Given the description of an element on the screen output the (x, y) to click on. 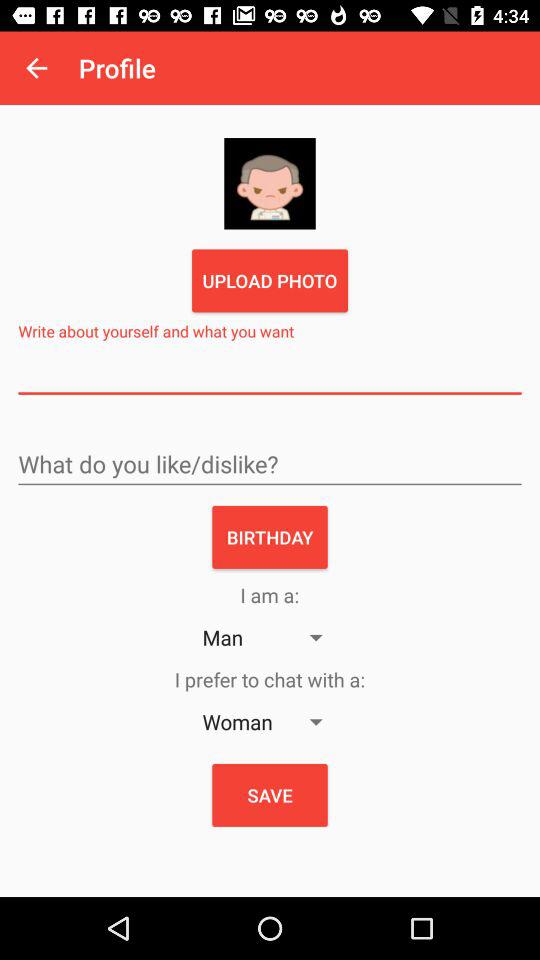
input description (269, 373)
